Given the description of an element on the screen output the (x, y) to click on. 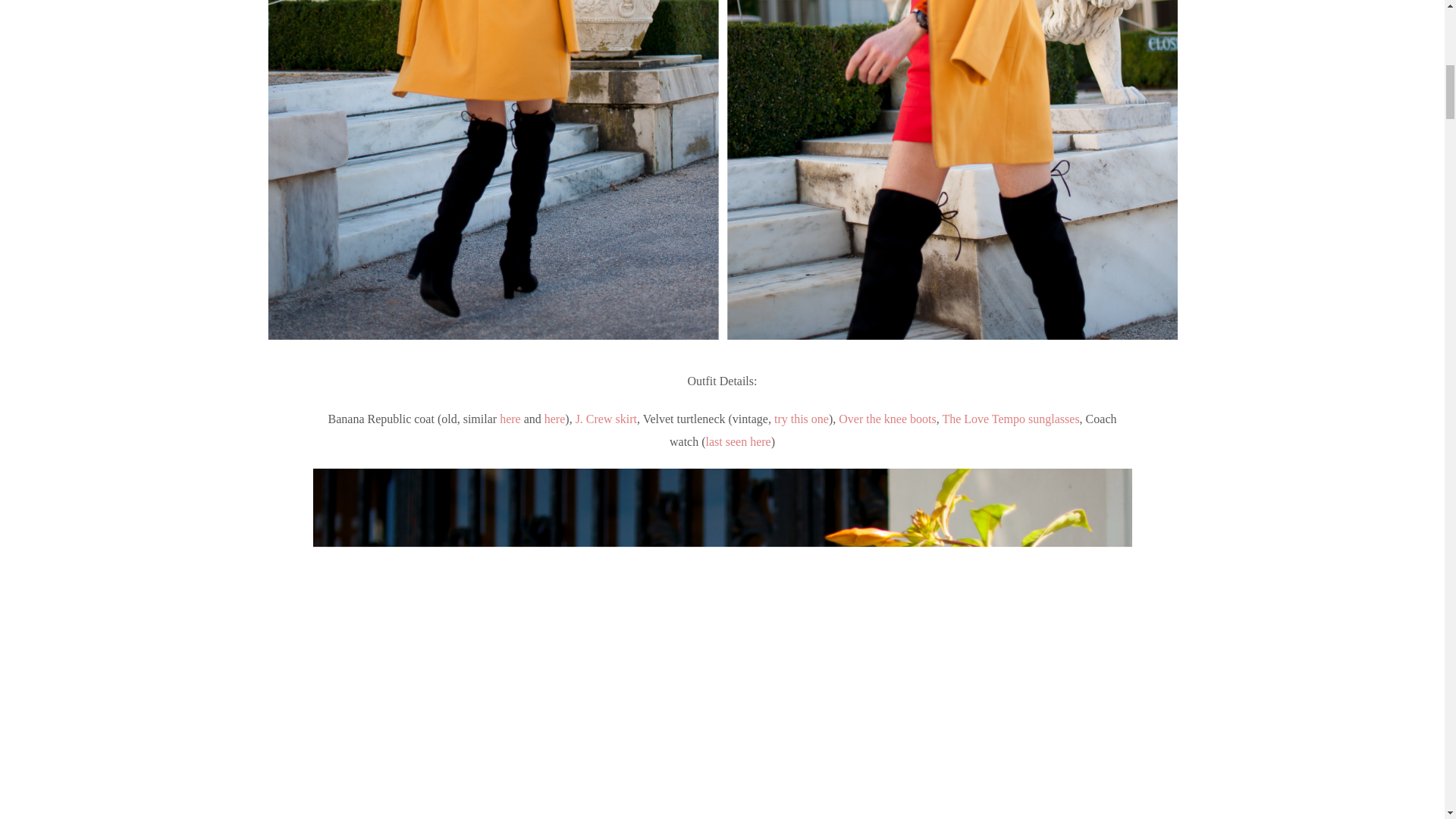
last seen here (737, 440)
here (510, 418)
J. Crew skirt (606, 418)
here (555, 418)
try this one (801, 418)
The Love Tempo sunglasses (1010, 418)
Over the knee boots (887, 418)
